Given the description of an element on the screen output the (x, y) to click on. 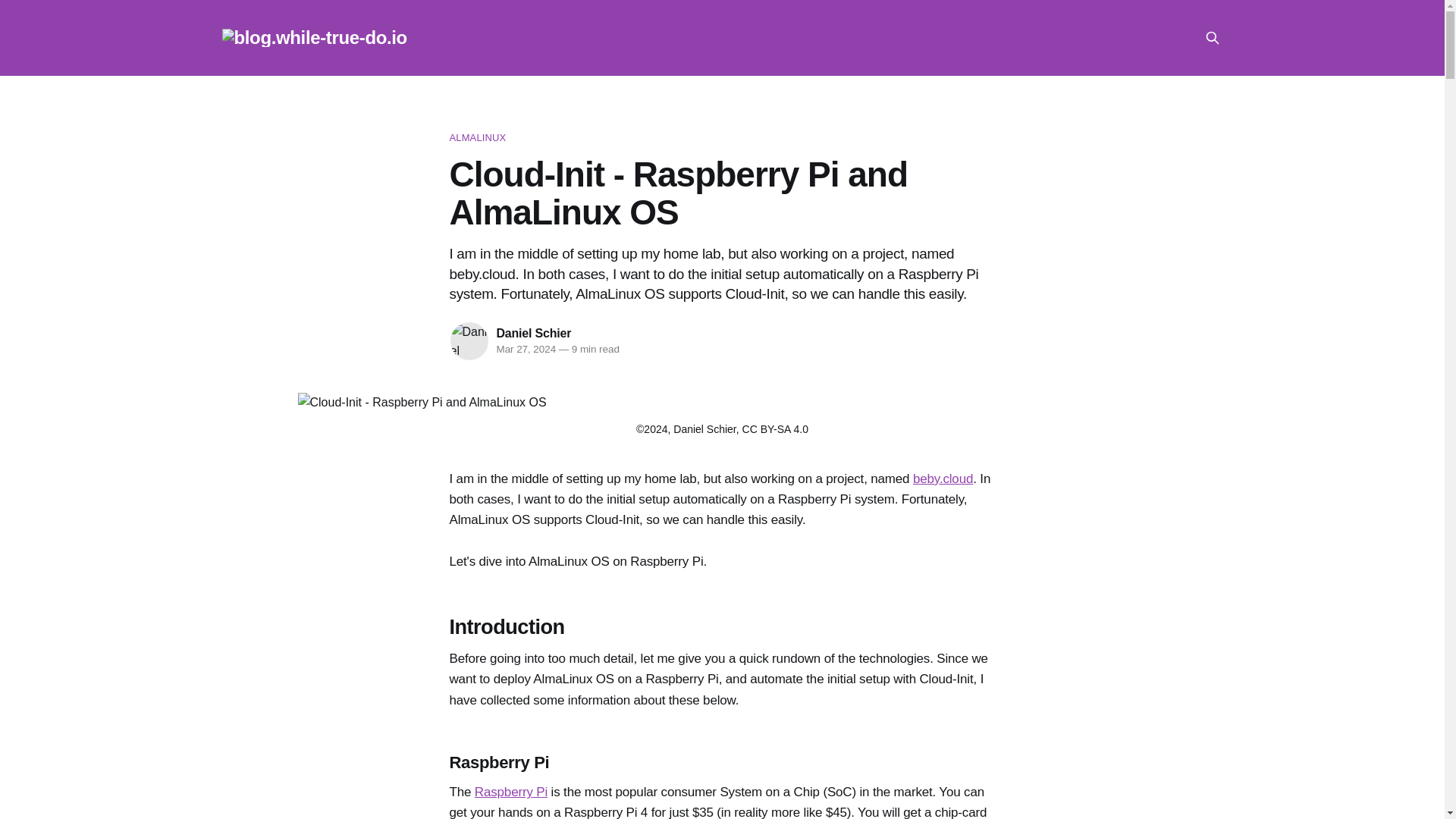
ALMALINUX (721, 138)
beby.cloud (942, 478)
Raspberry Pi (510, 791)
Daniel Schier (533, 332)
